Given the description of an element on the screen output the (x, y) to click on. 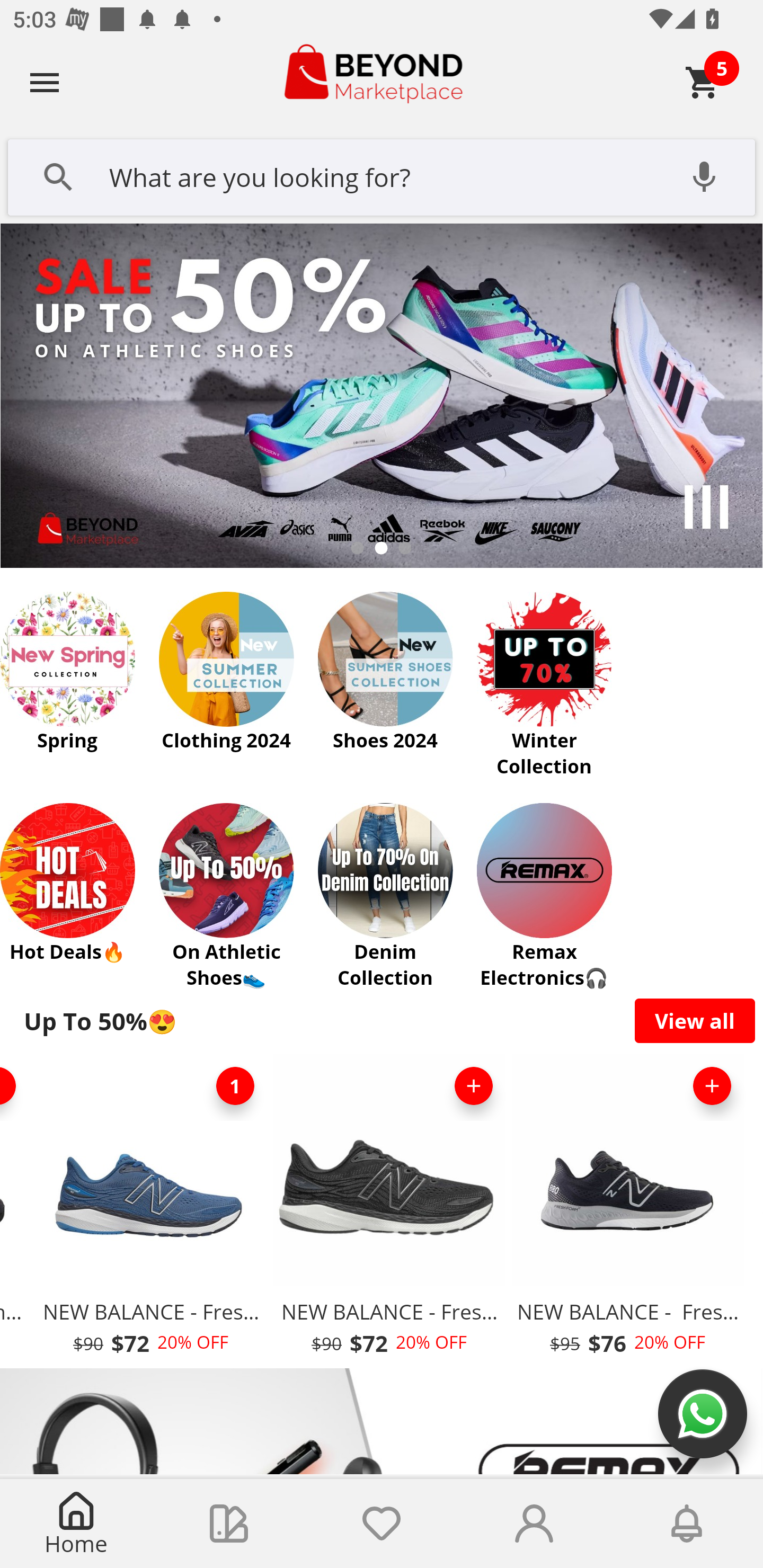
Navigate up (44, 82)
What are you looking for? (381, 175)
View all (694, 1020)
1 (234, 1085)
NEW BALANCE -  Fresh Foam X 880 $95 $76 20% OFF (627, 1209)
Collections (228, 1523)
Wishlist (381, 1523)
Account (533, 1523)
Notifications (686, 1523)
